Given the description of an element on the screen output the (x, y) to click on. 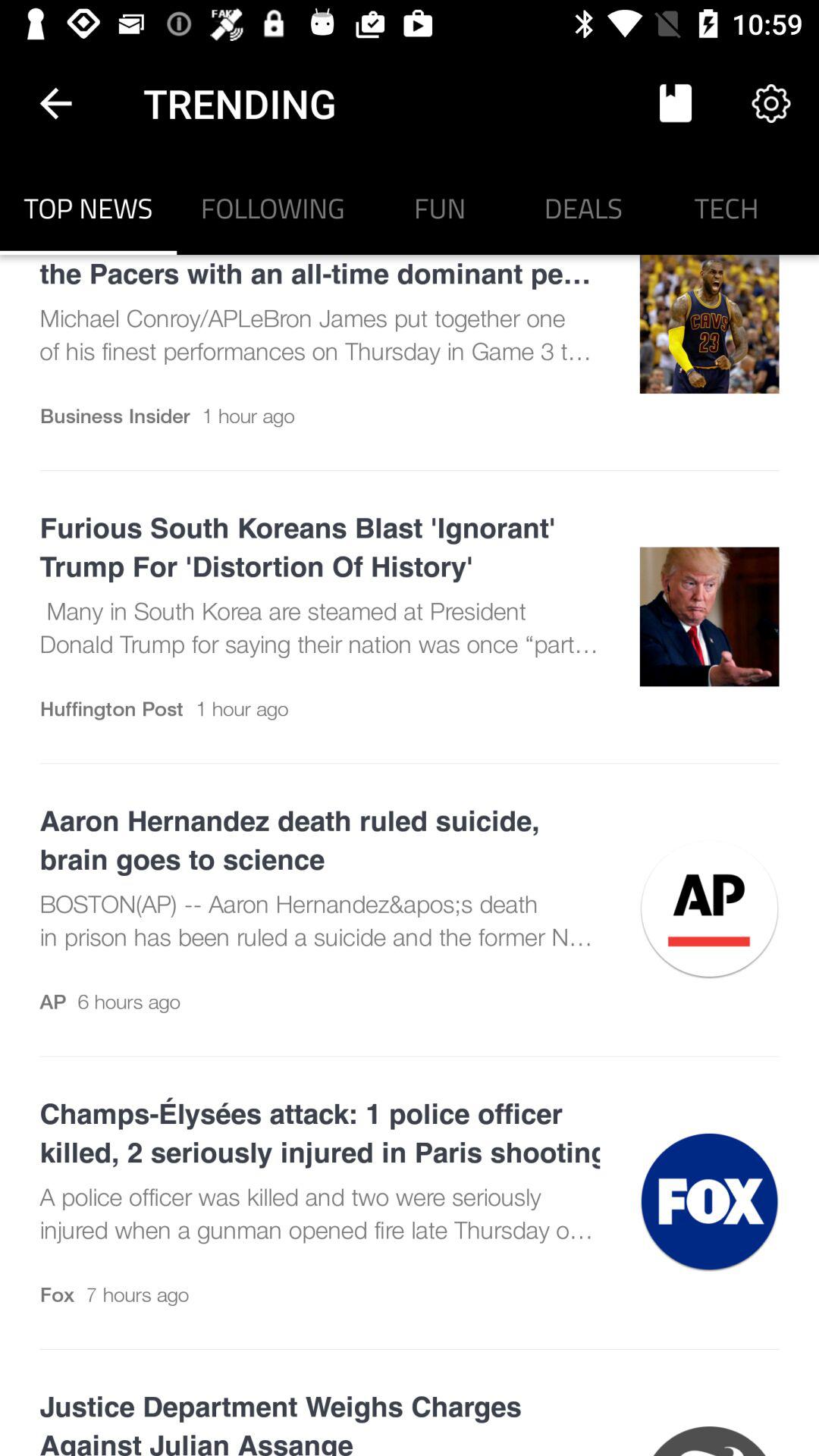
tap item next to trending (675, 103)
